Given the description of an element on the screen output the (x, y) to click on. 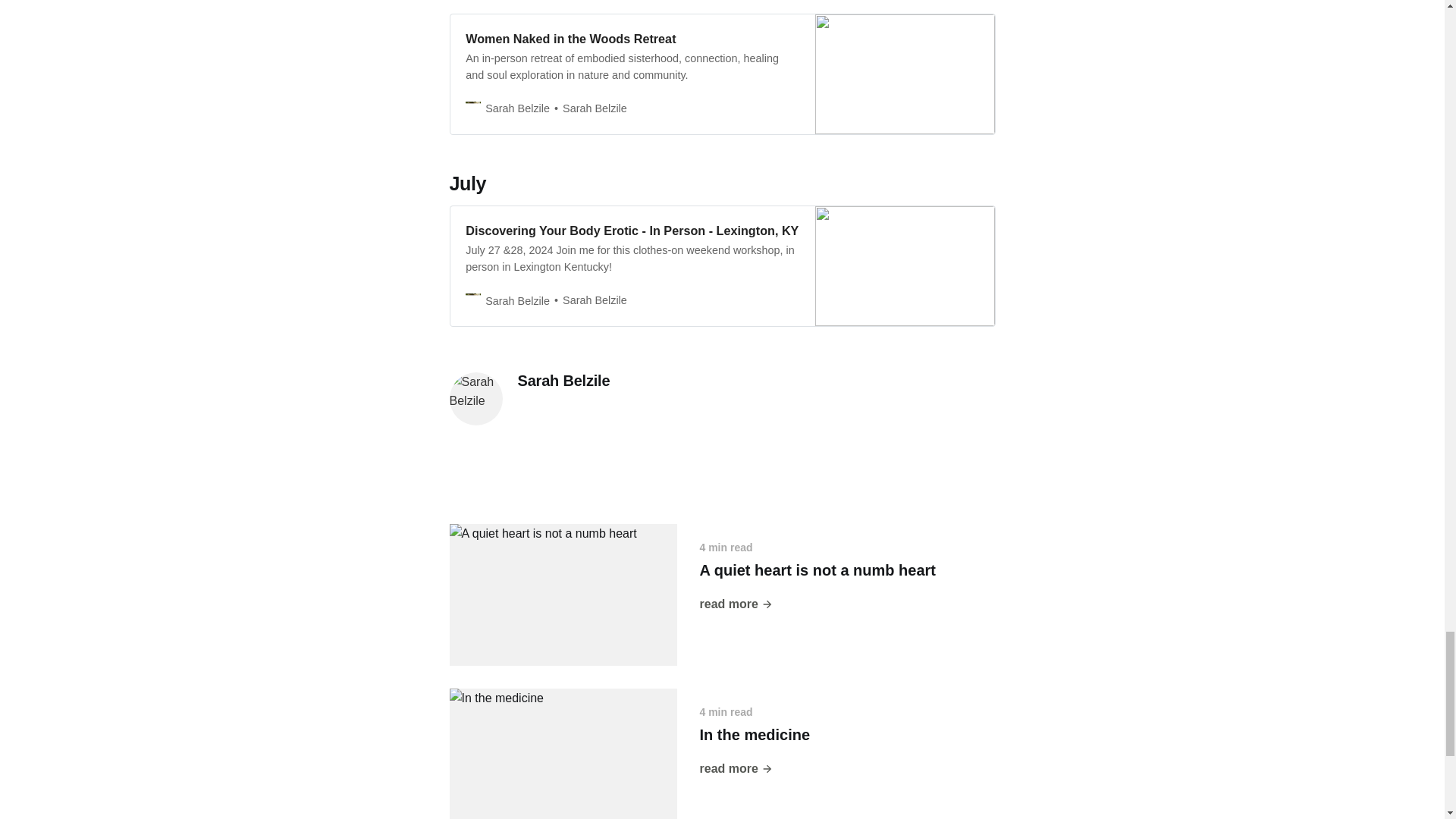
A quiet heart is not a numb heart (817, 569)
read more (735, 604)
read more (735, 768)
Sarah Belzile (563, 380)
In the medicine (753, 734)
